Given the description of an element on the screen output the (x, y) to click on. 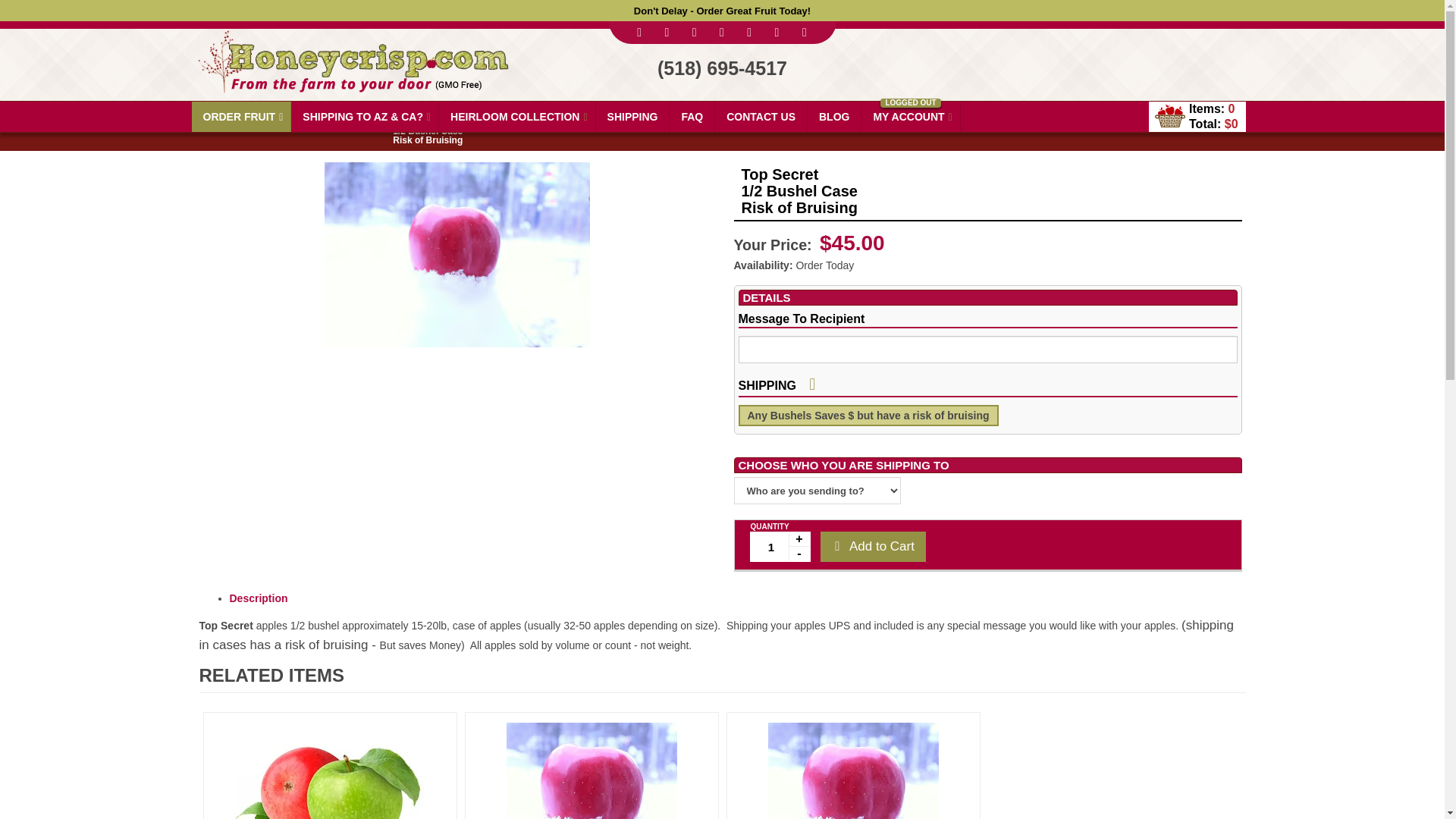
Subscribe to our Channel (694, 31)
Follow Us on Instagram (749, 31)
Honeycrisp Home (351, 55)
Like Us on Facebook (639, 31)
Subscribe to our Blog (804, 31)
1 (779, 546)
ORDER FRUIT (240, 116)
Follow Us on Twitter (667, 31)
Top Secret  (457, 254)
Shopping Cart (1169, 115)
